Given the description of an element on the screen output the (x, y) to click on. 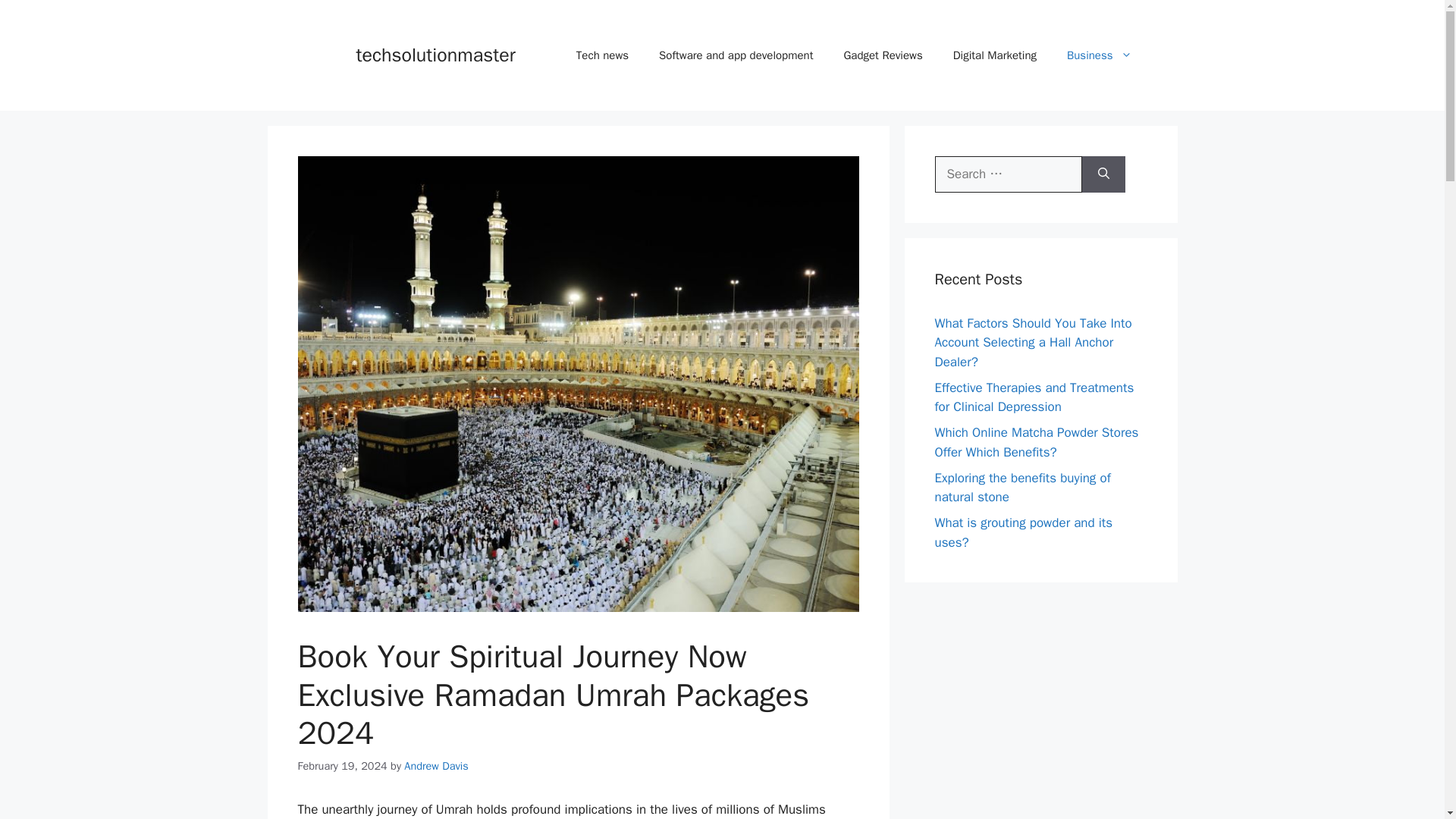
Search for: (1007, 174)
Tech news (601, 54)
Gadget Reviews (882, 54)
Which Online Matcha Powder Stores Offer Which Benefits? (1036, 442)
Business (1099, 54)
Software and app development (735, 54)
Andrew Davis (435, 766)
Effective Therapies and Treatments for Clinical Depression (1034, 396)
Digital Marketing (994, 54)
Exploring the benefits buying of natural stone (1021, 488)
View all posts by Andrew Davis (435, 766)
What is grouting powder and its uses? (1023, 532)
techsolutionmaster (435, 54)
